Given the description of an element on the screen output the (x, y) to click on. 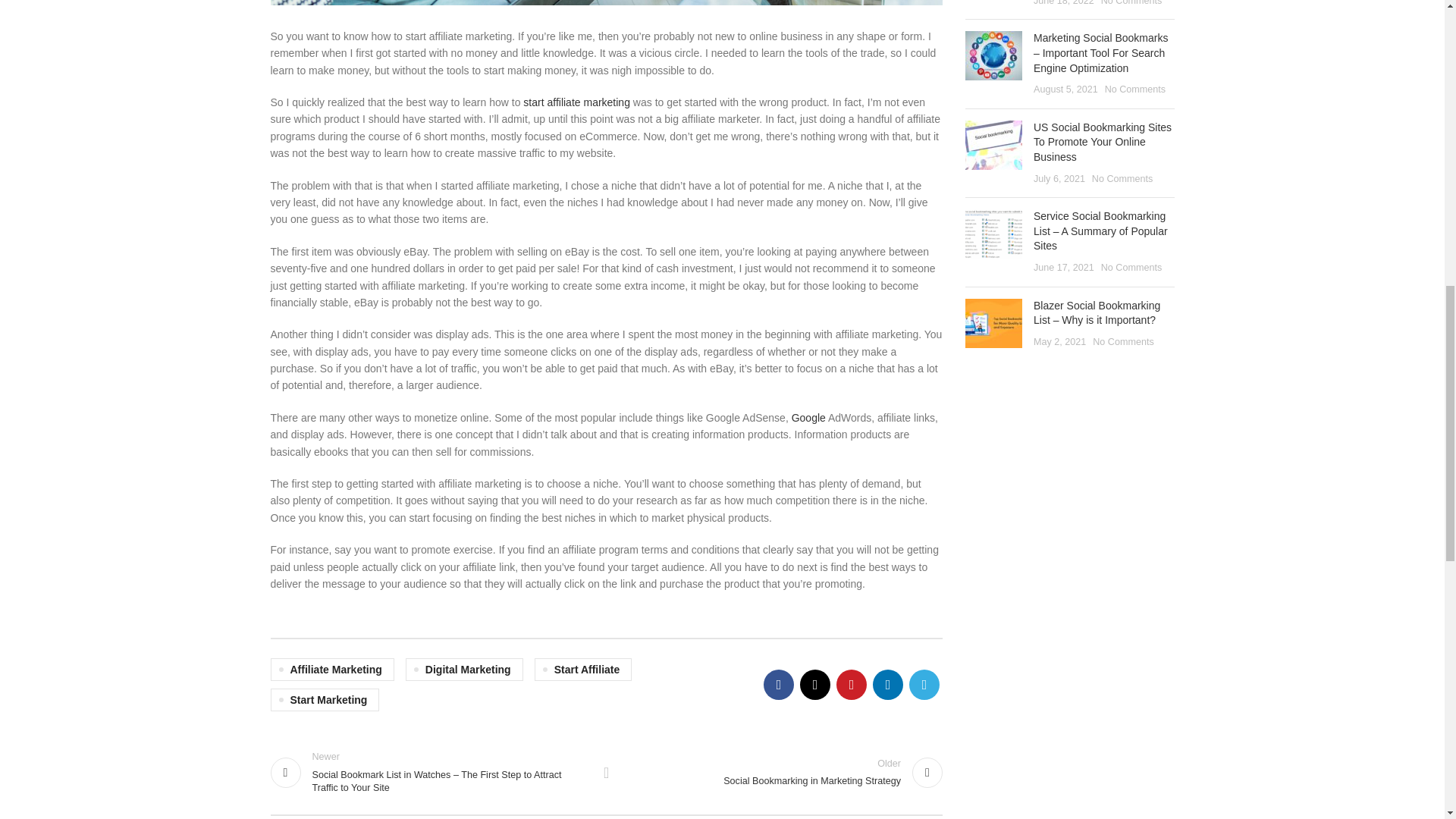
Start Marketing (781, 772)
Google (323, 699)
start affiliate marketing (808, 417)
Back to list (576, 102)
Affiliate Marketing (606, 772)
Digital Marketing (331, 669)
Start Affiliate (464, 669)
